Given the description of an element on the screen output the (x, y) to click on. 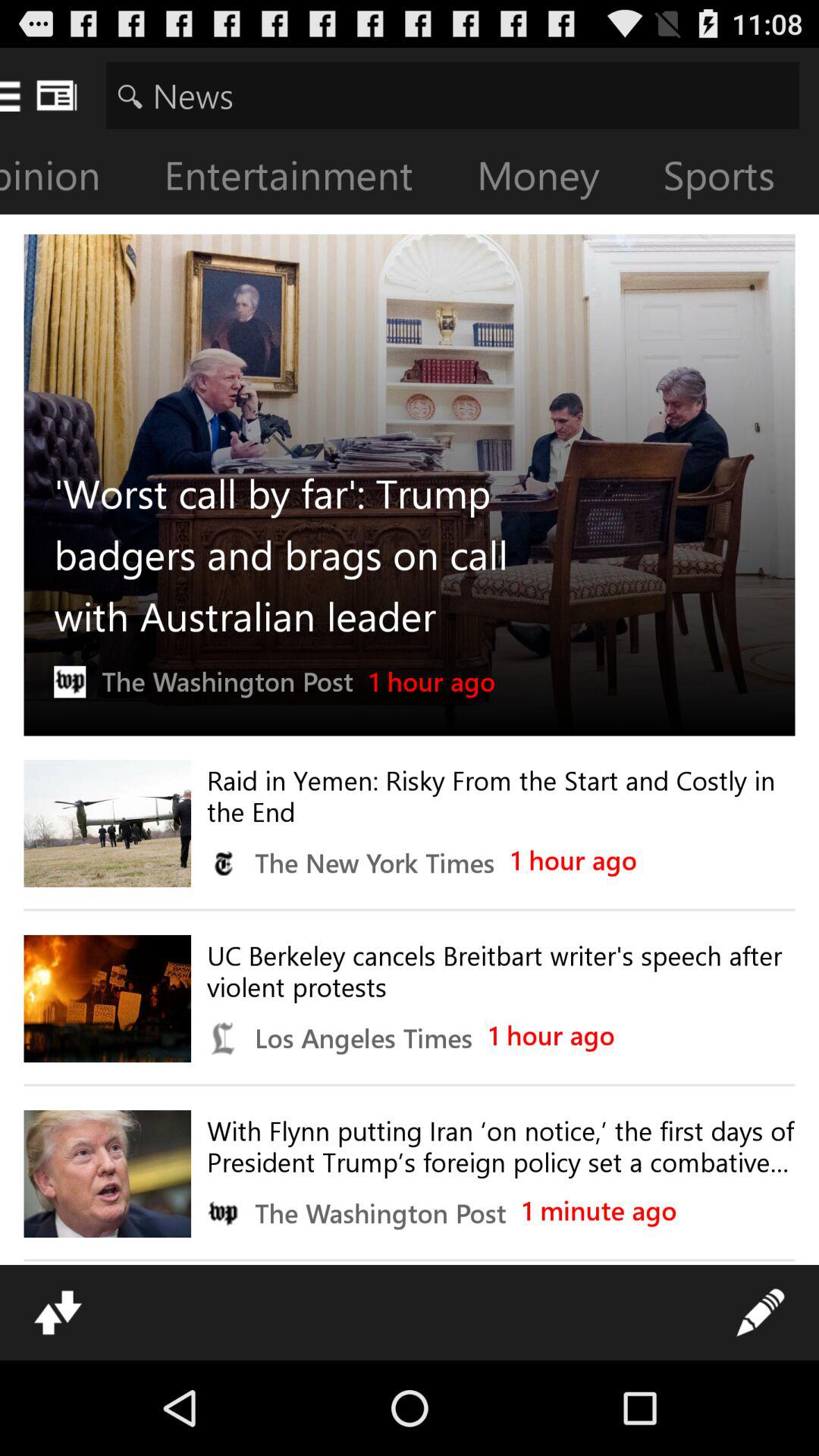
open money (550, 178)
